Given the description of an element on the screen output the (x, y) to click on. 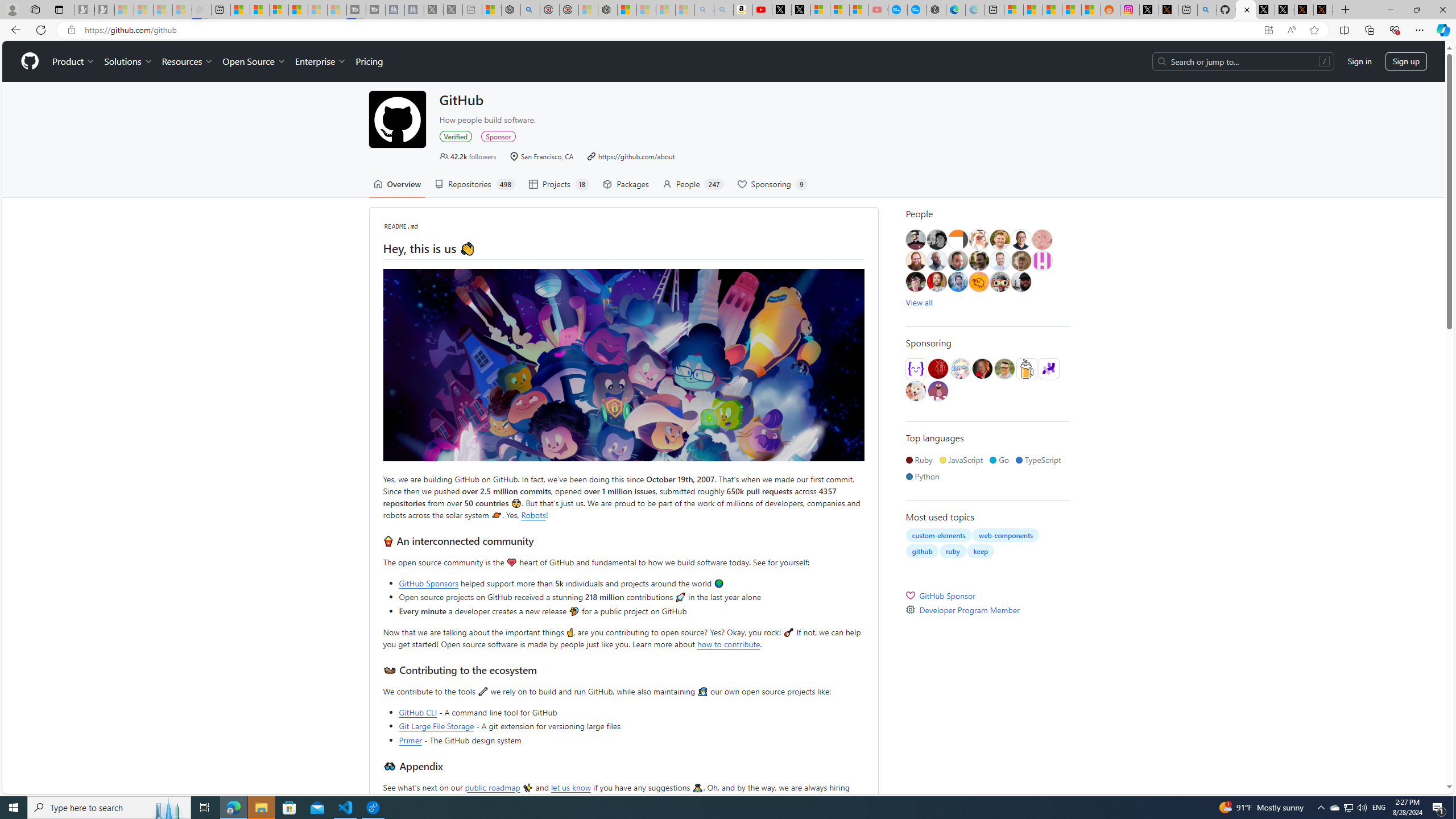
Open Source (254, 60)
Repositories498 (474, 184)
let us know (570, 786)
Pricing (368, 60)
@its-a-feature (937, 368)
@tannerlinsley (1004, 368)
@abraham (915, 260)
GitHub CLI (417, 711)
@kyanny (978, 281)
@kyanny (978, 281)
